Given the description of an element on the screen output the (x, y) to click on. 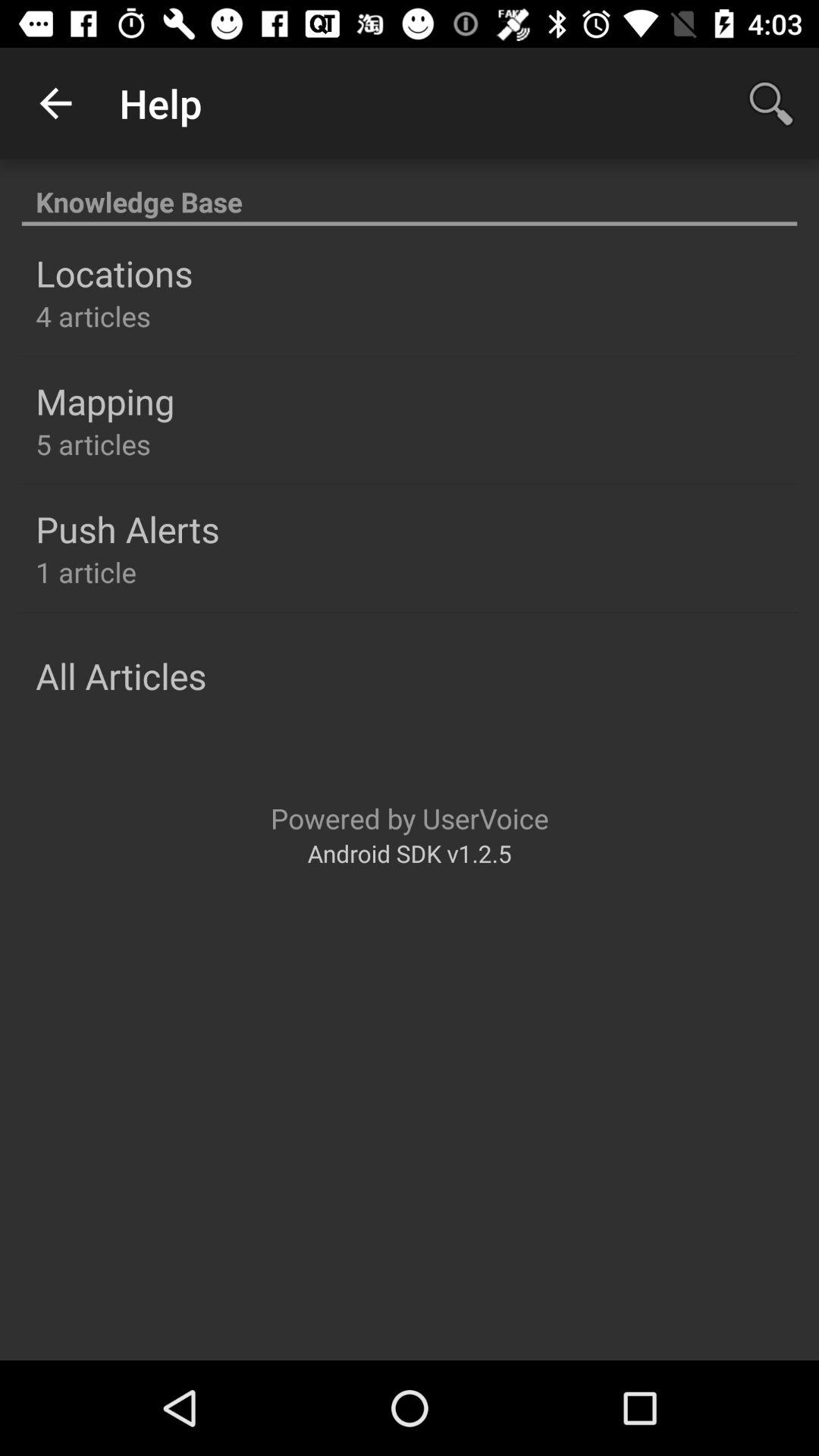
select item at the top right corner (771, 103)
